Given the description of an element on the screen output the (x, y) to click on. 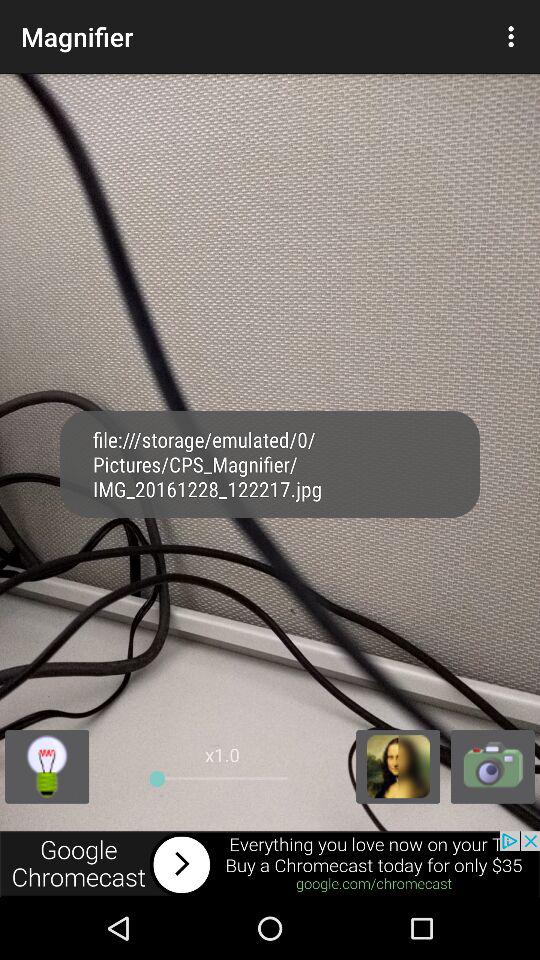
magnifier (398, 766)
